Given the description of an element on the screen output the (x, y) to click on. 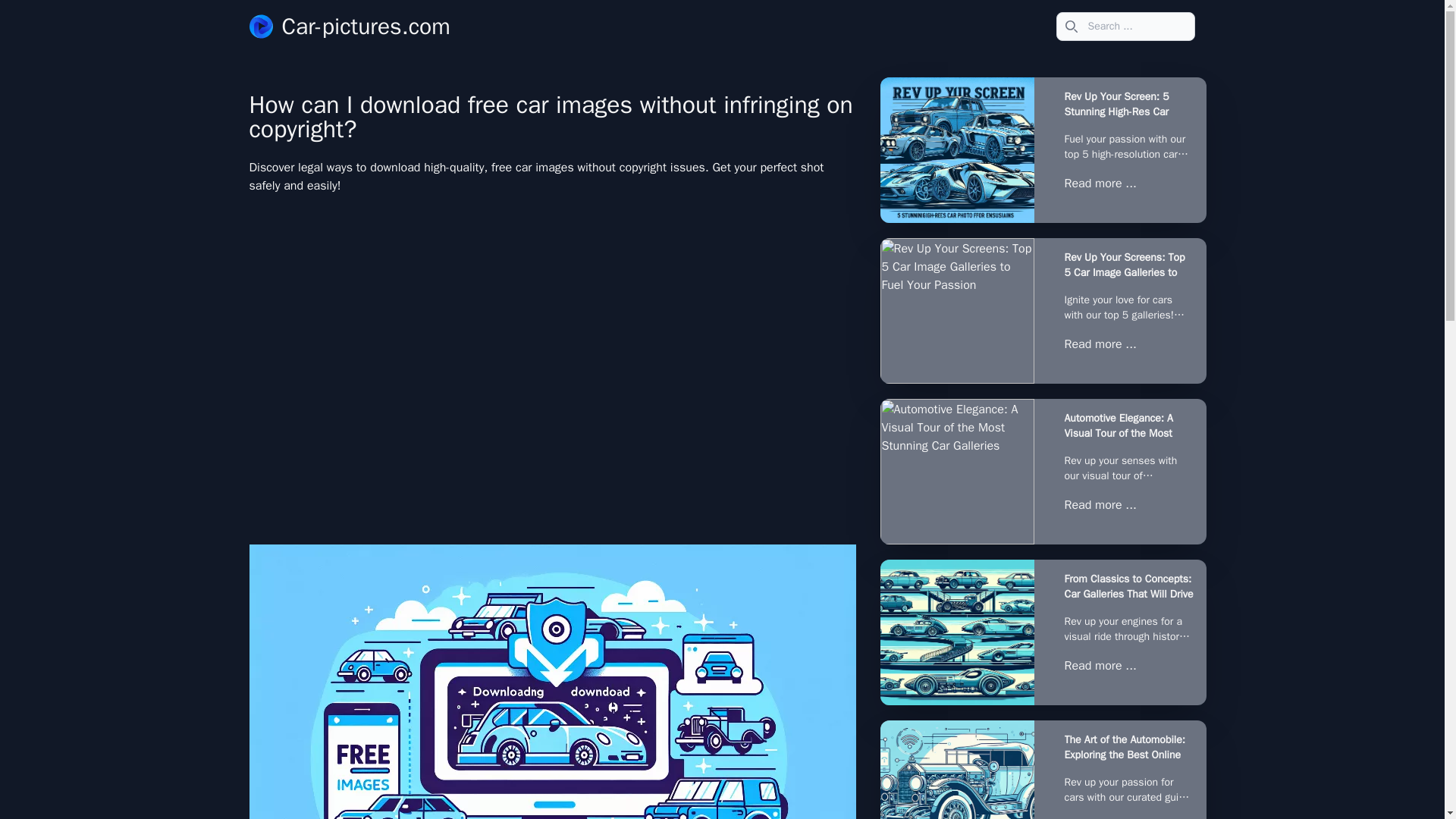
Car-pictures.com (348, 26)
